Given the description of an element on the screen output the (x, y) to click on. 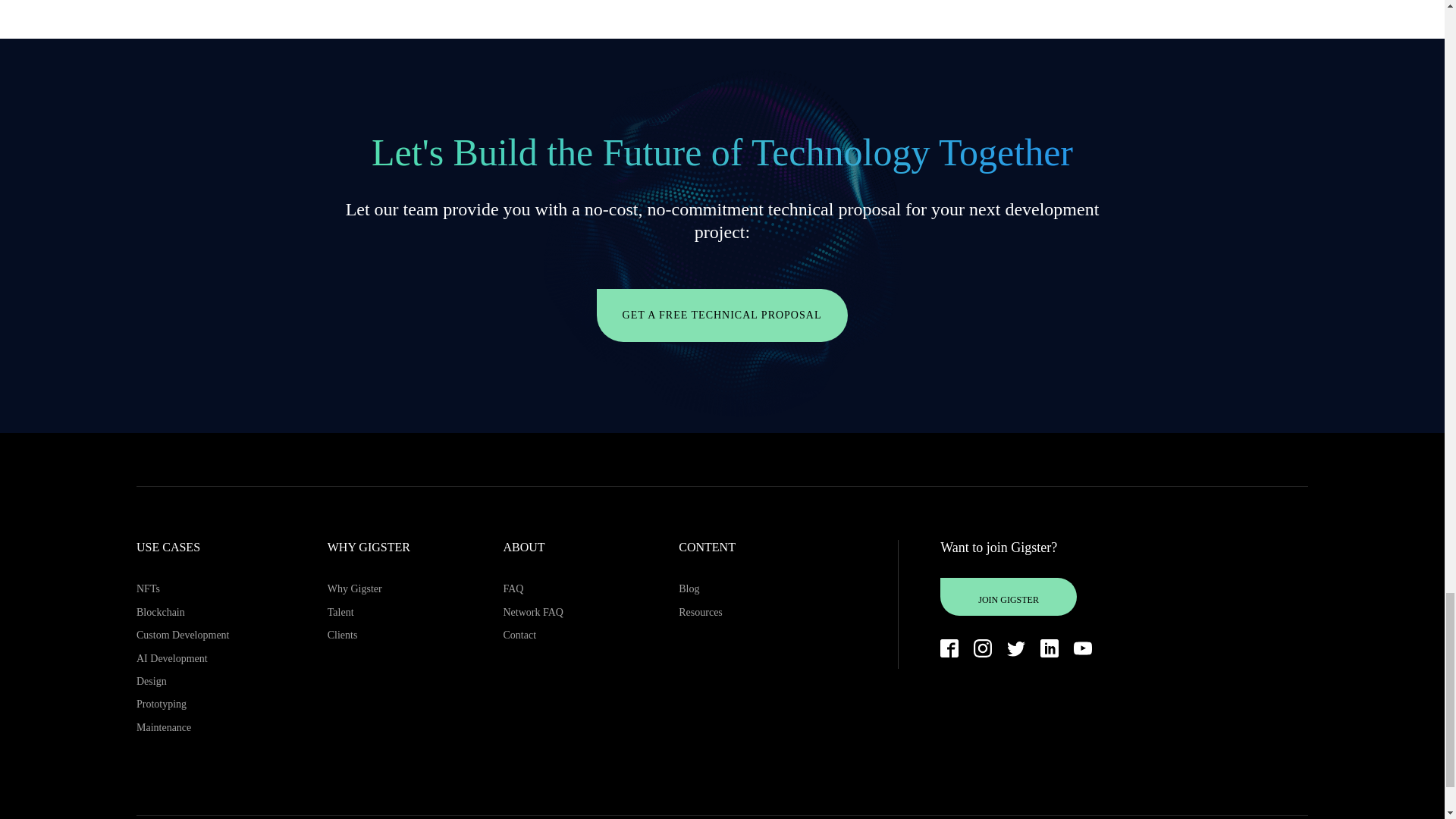
Design (183, 681)
Custom Development (183, 635)
Blockchain (183, 612)
NFTs (183, 589)
Maintenance (183, 727)
GET A FREE TECHNICAL PROPOSAL (722, 315)
Prototyping (183, 703)
AI Development (183, 658)
